Given the description of an element on the screen output the (x, y) to click on. 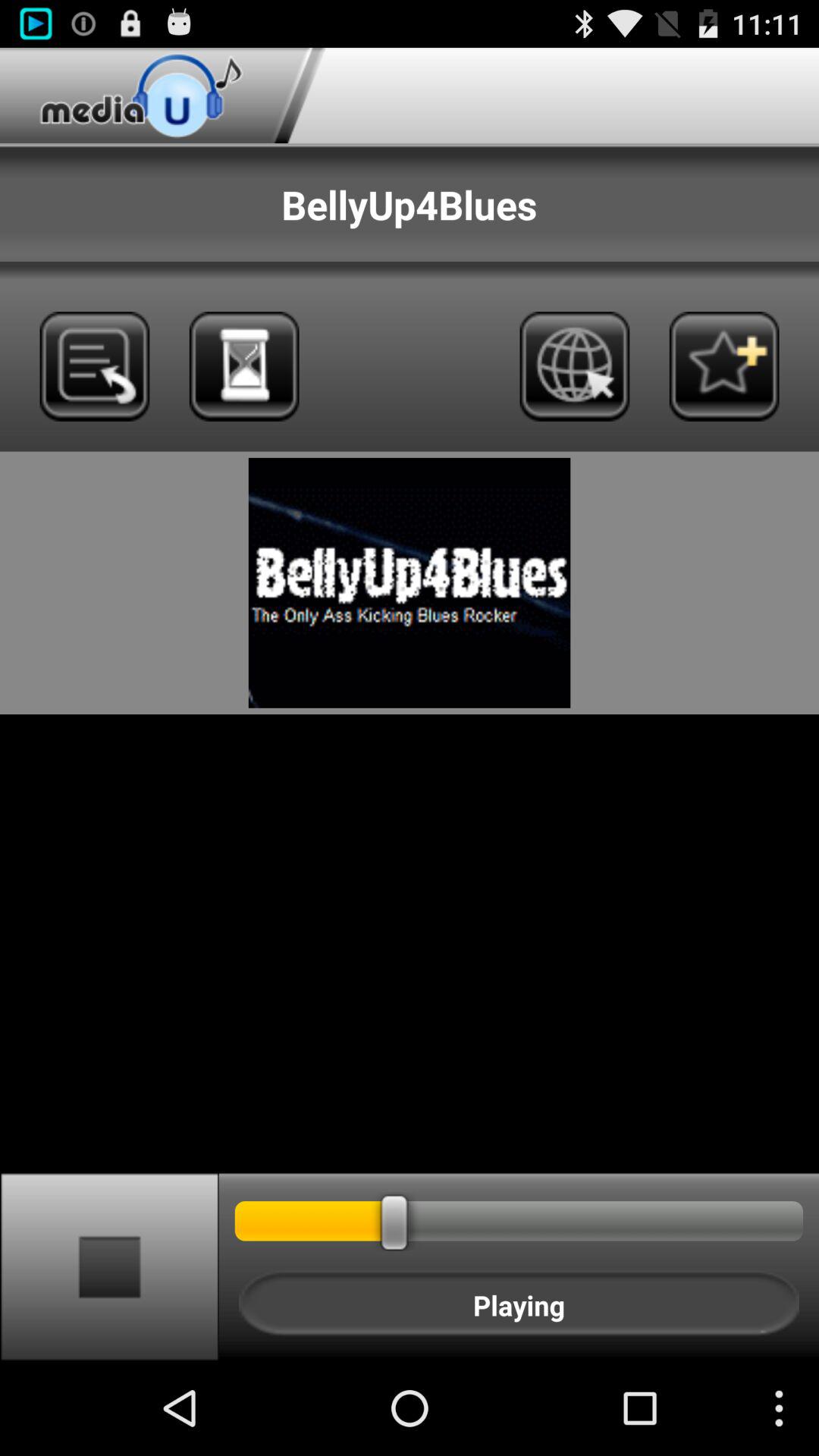
stop switch (109, 1266)
